Given the description of an element on the screen output the (x, y) to click on. 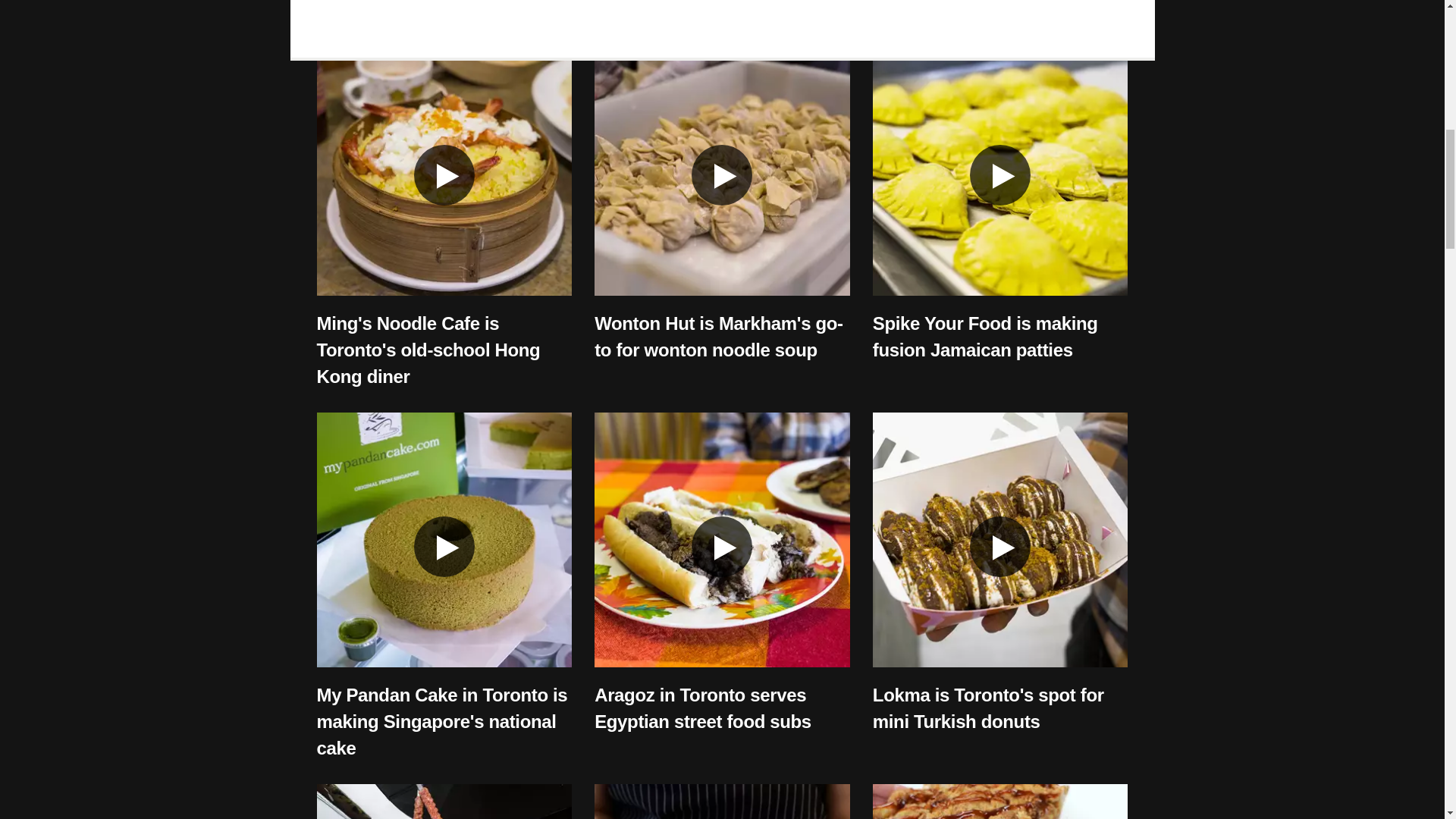
Aragoz in Toronto serves Egyptian street food subs (702, 708)
Ming's Noodle Cafe is Toronto's old-school Hong Kong diner (428, 349)
Lokma is Toronto's spot for mini Turkish donuts (987, 708)
Wonton Hut is Markham's go-to for wonton noodle soup (718, 336)
Spike Your Food is making fusion Jamaican patties (984, 336)
